Given the description of an element on the screen output the (x, y) to click on. 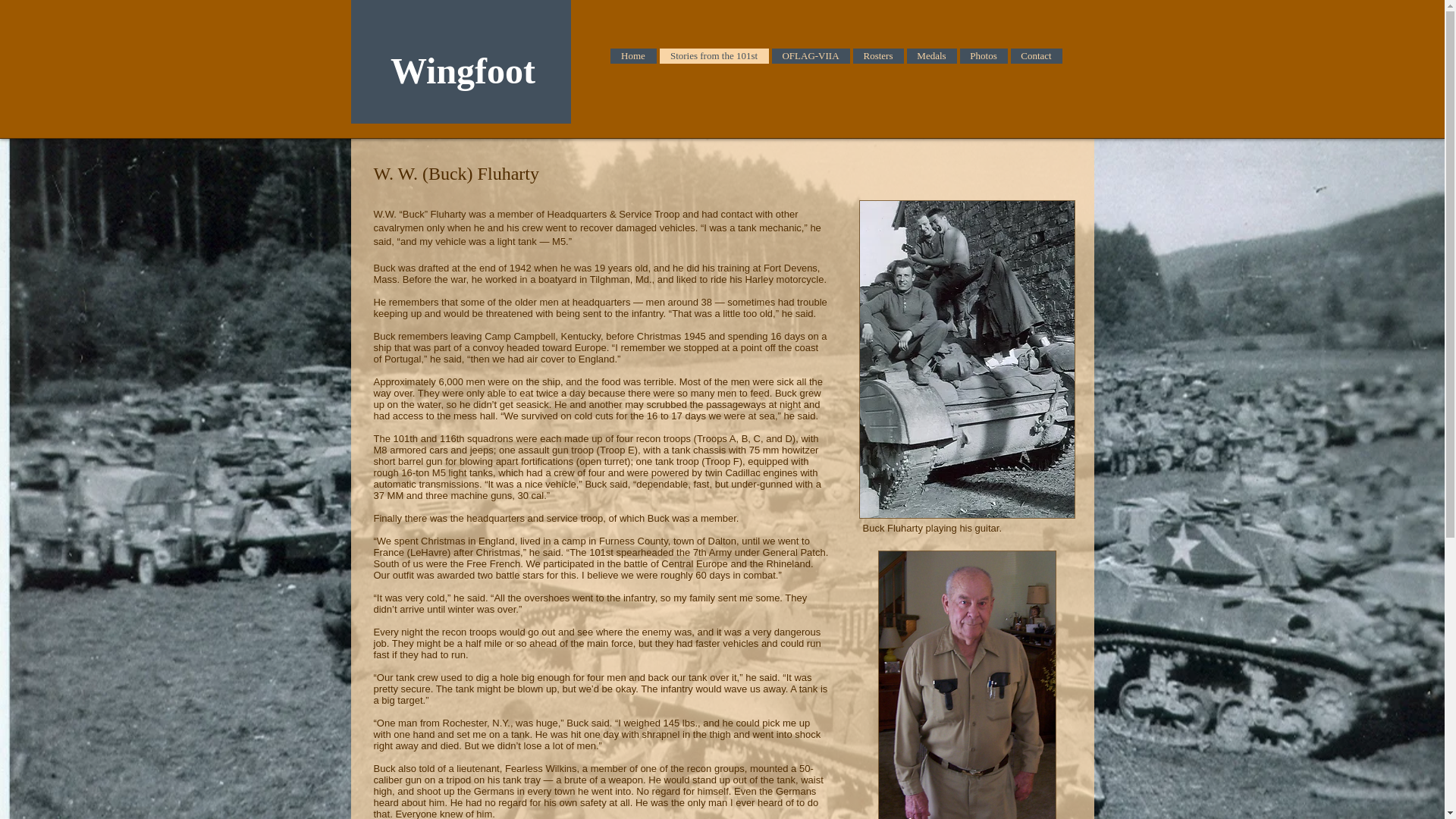
Home (633, 55)
Medals (931, 55)
Rosters (876, 55)
OFLAG-VIIA (810, 55)
Stories from the 101st (713, 55)
